Given the description of an element on the screen output the (x, y) to click on. 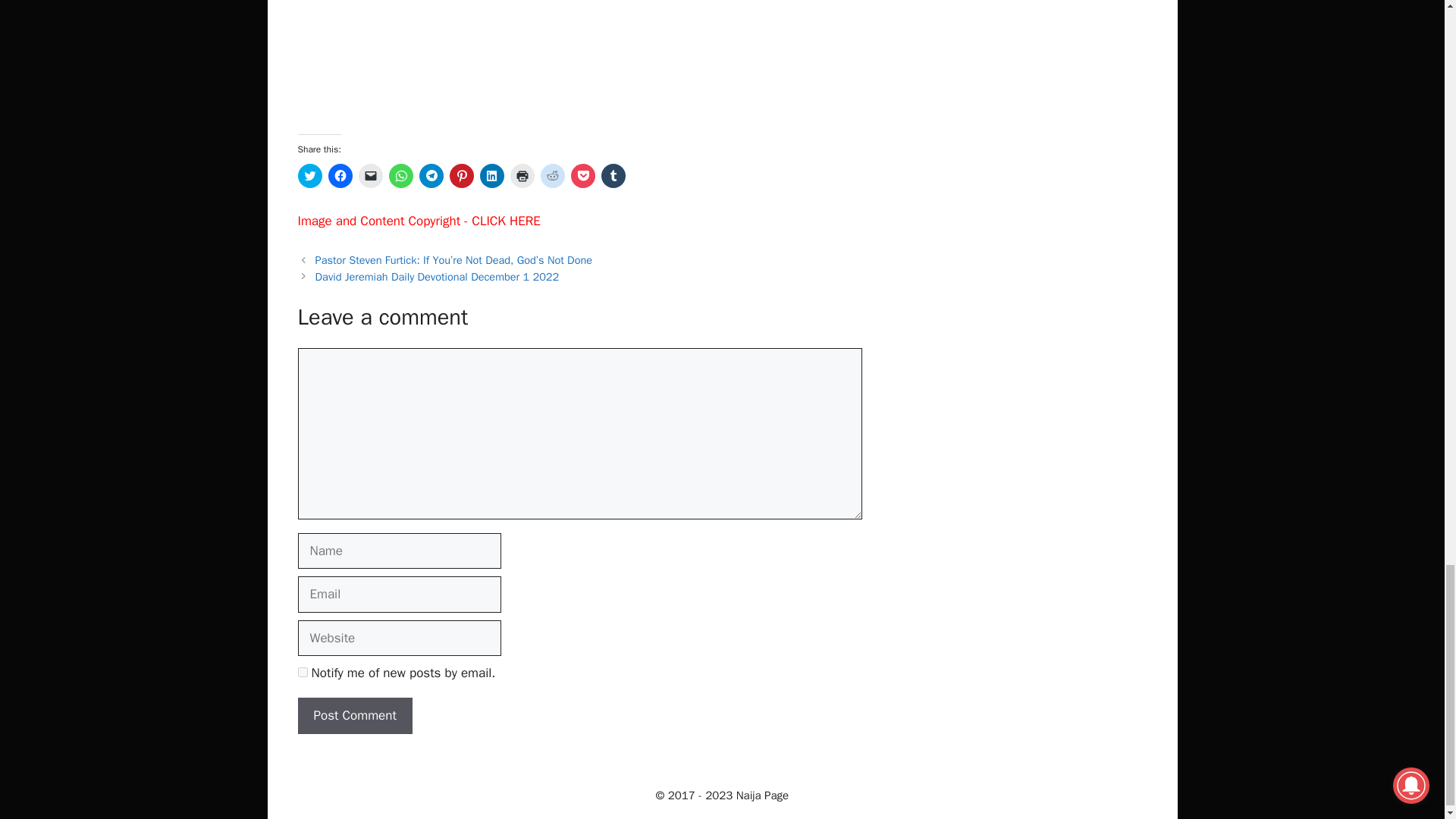
Click to share on Reddit (552, 175)
Click to share on WhatsApp (400, 175)
Click to share on LinkedIn (491, 175)
Click to email a link to a friend (369, 175)
subscribe (302, 672)
Click to share on Pocket (582, 175)
Post Comment (354, 715)
Click to share on Telegram (430, 175)
Click to print (521, 175)
Click to share on Facebook (339, 175)
